Given the description of an element on the screen output the (x, y) to click on. 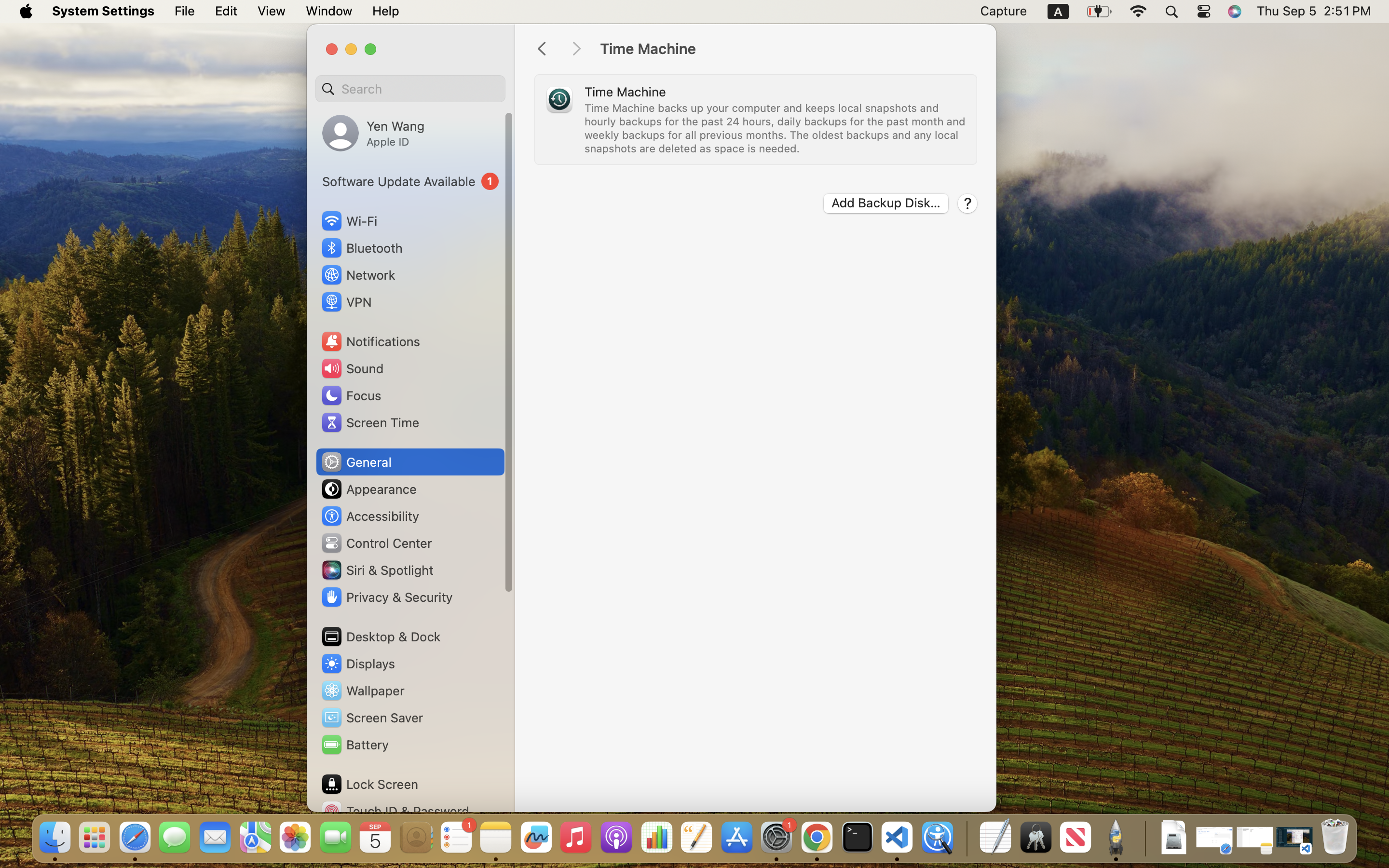
Displays Element type: AXStaticText (357, 663)
Time Machine backs up your computer and keeps local snapshots and hourly backups for the past 24 hours, daily backups for the past month and weekly backups for all previous months. The oldest backups and any local snapshots are deleted as space is needed. Element type: AXStaticText (775, 128)
Accessibility Element type: AXStaticText (369, 515)
Privacy & Security Element type: AXStaticText (386, 596)
Wallpaper Element type: AXStaticText (362, 690)
